Given the description of an element on the screen output the (x, y) to click on. 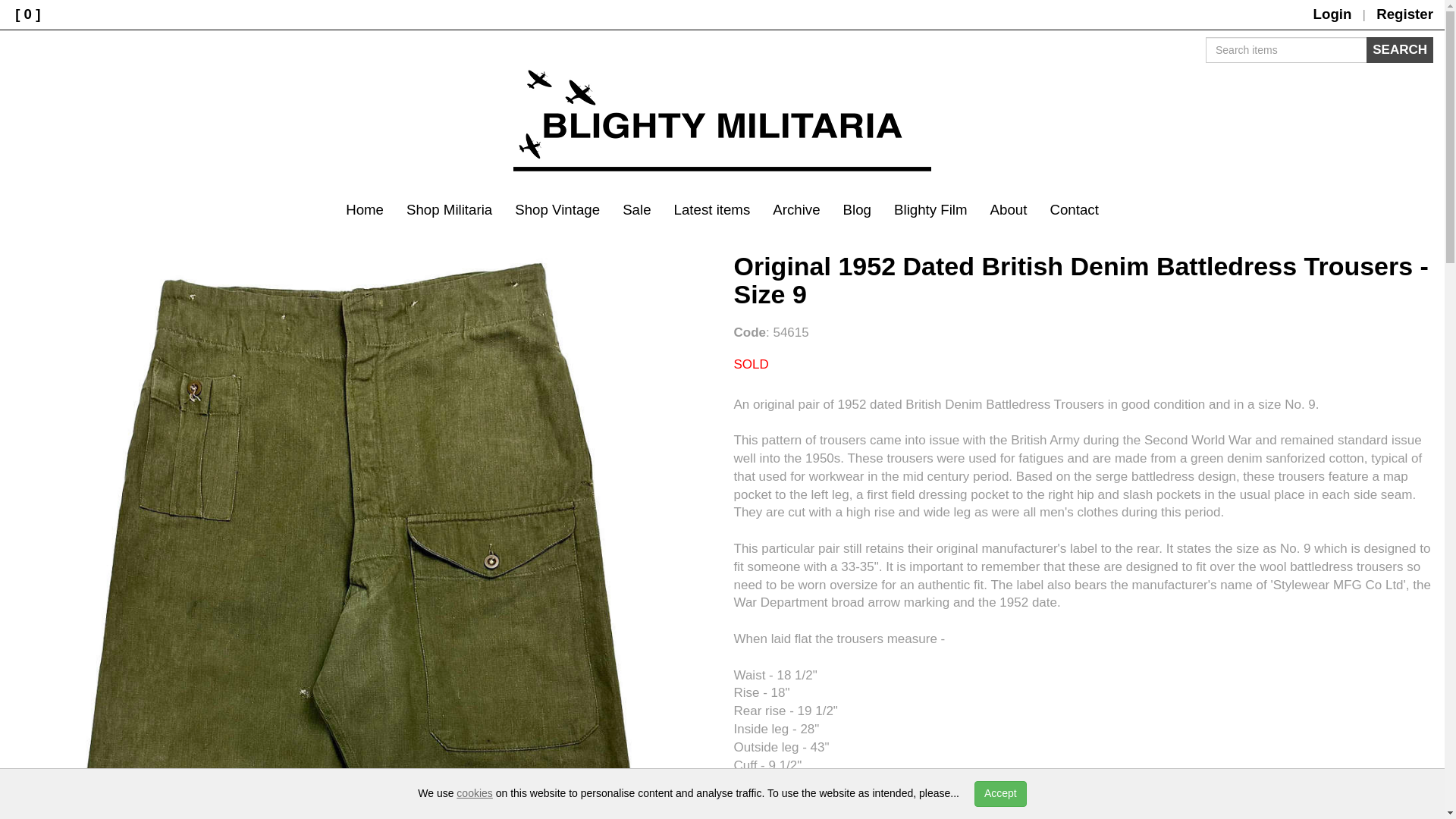
Register (1403, 13)
Sale (636, 209)
SEARCH (1399, 49)
Contact (1073, 209)
Archive (796, 209)
Home (364, 209)
Blighty Militaria (722, 121)
Blighty Film (930, 209)
About (1008, 209)
Accept (1000, 793)
Shop Vintage (557, 209)
cookies (474, 793)
Blog (856, 209)
Latest items (711, 209)
Shop Militaria (448, 209)
